Given the description of an element on the screen output the (x, y) to click on. 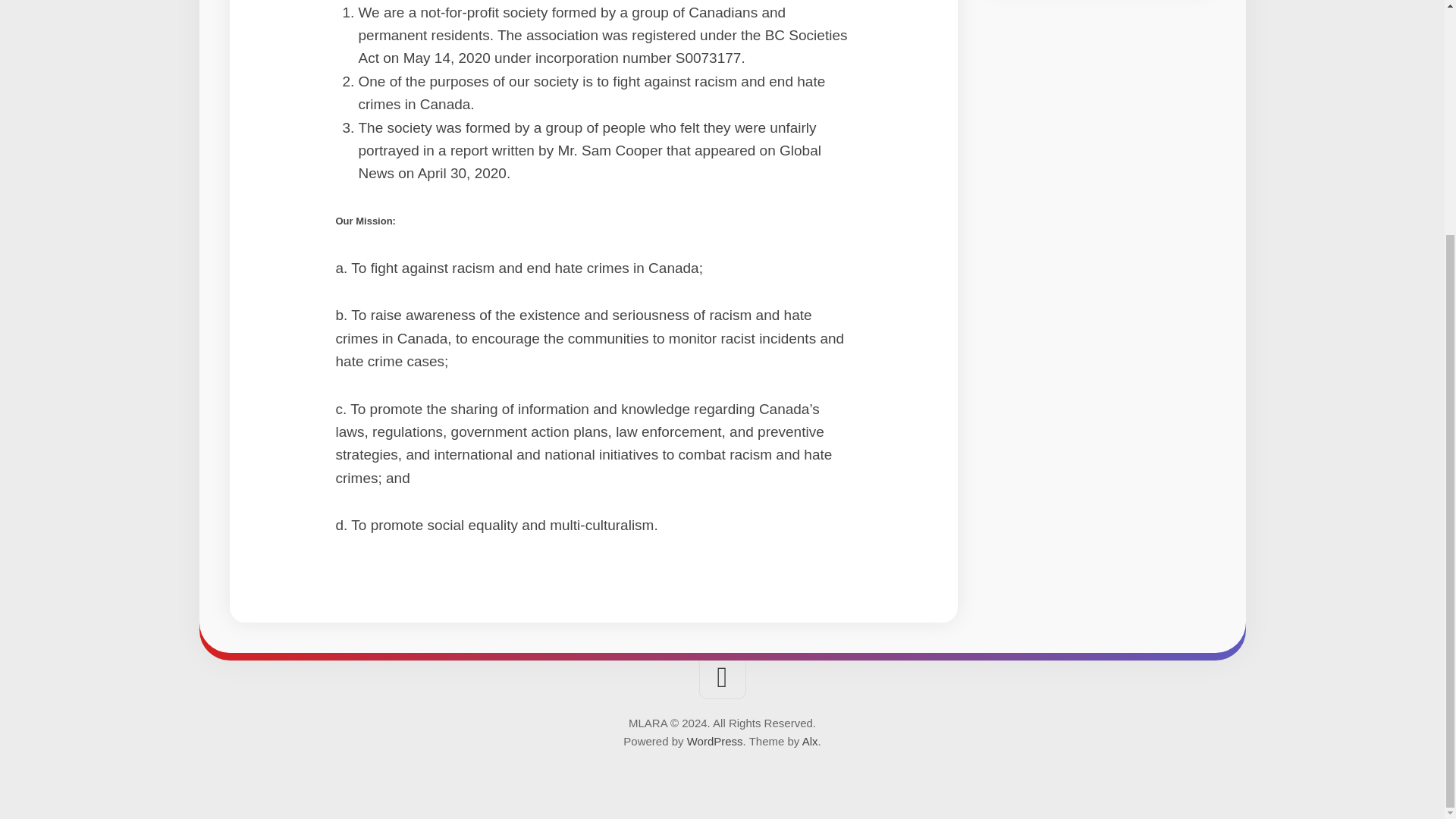
Alx (810, 740)
WordPress (714, 740)
